Given the description of an element on the screen output the (x, y) to click on. 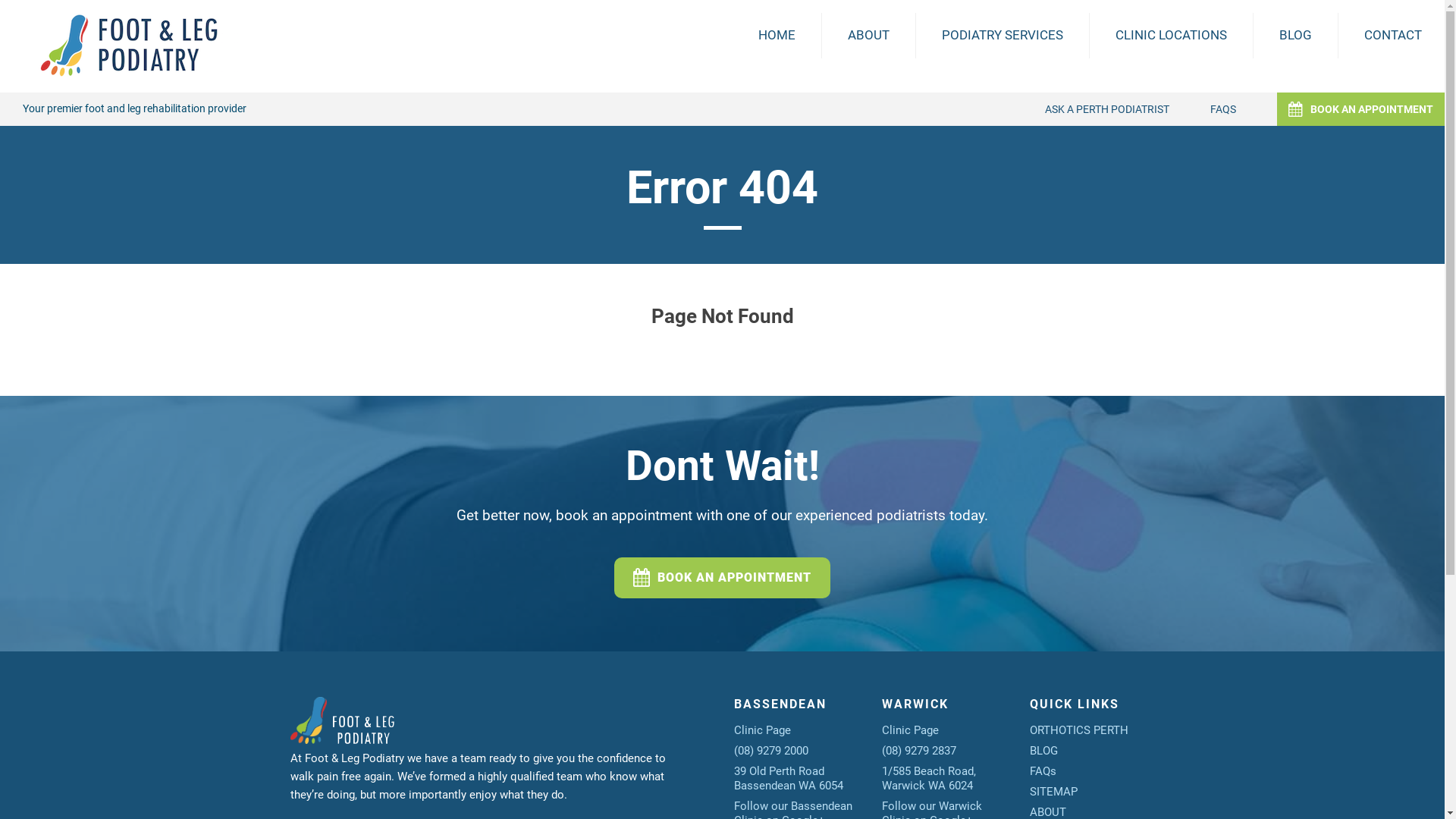
BOOK AN APPOINTMENT Element type: text (1360, 108)
Clinic Page Element type: text (762, 730)
CLINIC LOCATIONS Element type: text (1170, 34)
ASK A PERTH PODIATRIST Element type: text (1106, 109)
  Element type: text (329, 739)
PODIATRY SERVICES Element type: text (1002, 34)
(08) 9279 2837 Element type: text (918, 749)
39 Old Perth Road Bassendean WA 6054 Element type: text (788, 778)
Clinic Page Element type: text (909, 730)
ORTHOTICS PERTH Element type: text (1078, 730)
ABOUT Element type: text (868, 34)
(08) 9279 2000 Element type: text (771, 749)
HOME Element type: text (776, 34)
1/585 Beach Road, Warwick WA 6024 Element type: text (928, 778)
FAQS Element type: text (1223, 109)
  Element type: text (364, 739)
BLOG Element type: text (1043, 749)
BOOK AN APPOINTMENT Element type: text (722, 576)
BLOG Element type: text (1295, 34)
SITEMAP Element type: text (1053, 790)
FAQs Element type: text (1042, 771)
CONTACT Element type: text (1392, 34)
